Given the description of an element on the screen output the (x, y) to click on. 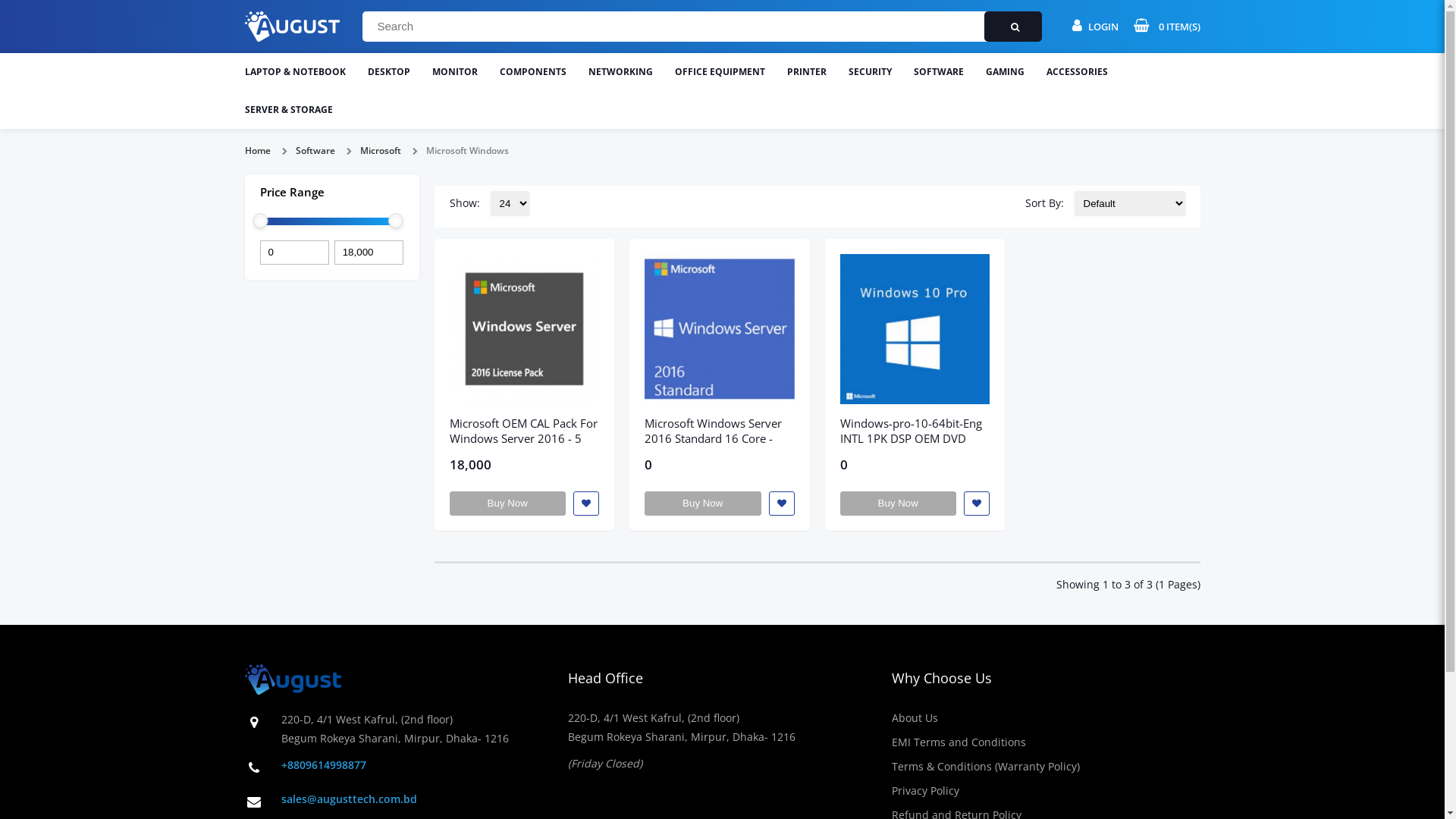
LOGIN Element type: text (1095, 25)
GAMING Element type: text (1004, 72)
DESKTOP Element type: text (388, 72)
About Us Element type: text (914, 717)
Windows-pro-10-64bit-Eng INTL 1PK DSP OEM DVD Element type: text (911, 430)
Buy Now Element type: text (702, 503)
Buy Now Element type: text (506, 503)
August Technologies Ltd. Element type: hover (291, 26)
Buy Now Element type: text (898, 503)
ACCESSORIES Element type: text (1076, 72)
Microsoft Windows Server 2016 Standard 16 Core - OEM Pack Element type: text (712, 438)
+8809614998877 Element type: text (322, 764)
SOFTWARE Element type: text (938, 72)
Home Element type: text (256, 150)
Privacy Policy Element type: text (925, 790)
SECURITY Element type: text (869, 72)
PRINTER Element type: text (806, 72)
Software Element type: text (315, 150)
NETWORKING Element type: text (620, 72)
LAPTOP & NOTEBOOK Element type: text (294, 72)
sales@augusttech.com.bd Element type: text (348, 798)
Terms & Conditions (Warranty Policy) Element type: text (985, 766)
OFFICE EQUIPMENT Element type: text (719, 72)
Microsoft OEM CAL Pack For Windows Server 2016 - 5 User CAL Element type: text (522, 438)
EMI Terms and Conditions Element type: text (958, 741)
MONITOR Element type: text (454, 72)
Microsoft Element type: text (379, 150)
Microsoft Windows Element type: text (467, 150)
COMPONENTS Element type: text (531, 72)
SERVER & STORAGE Element type: text (288, 109)
